Given the description of an element on the screen output the (x, y) to click on. 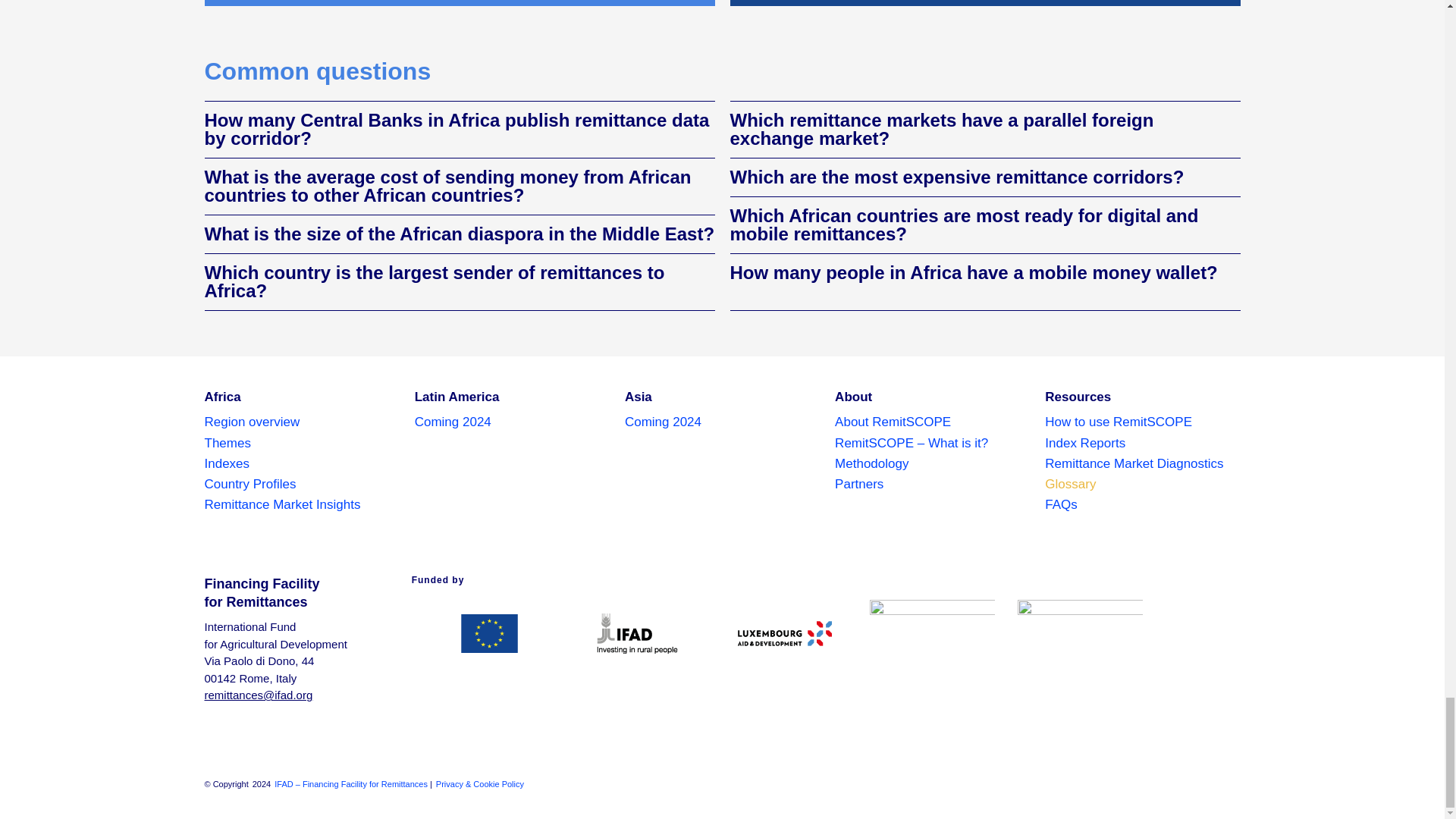
Remittance Market Insights (301, 504)
What is the size of the African diaspora in the Middle East? (459, 233)
Country Profiles (301, 484)
Which are the most expensive remittance corridors? (956, 177)
How many people in Africa have a mobile money wallet? (973, 272)
Themes (301, 443)
Indexes (301, 463)
About RemitSCOPE (931, 421)
Region overview (301, 421)
Coming 2024 (453, 421)
